Given the description of an element on the screen output the (x, y) to click on. 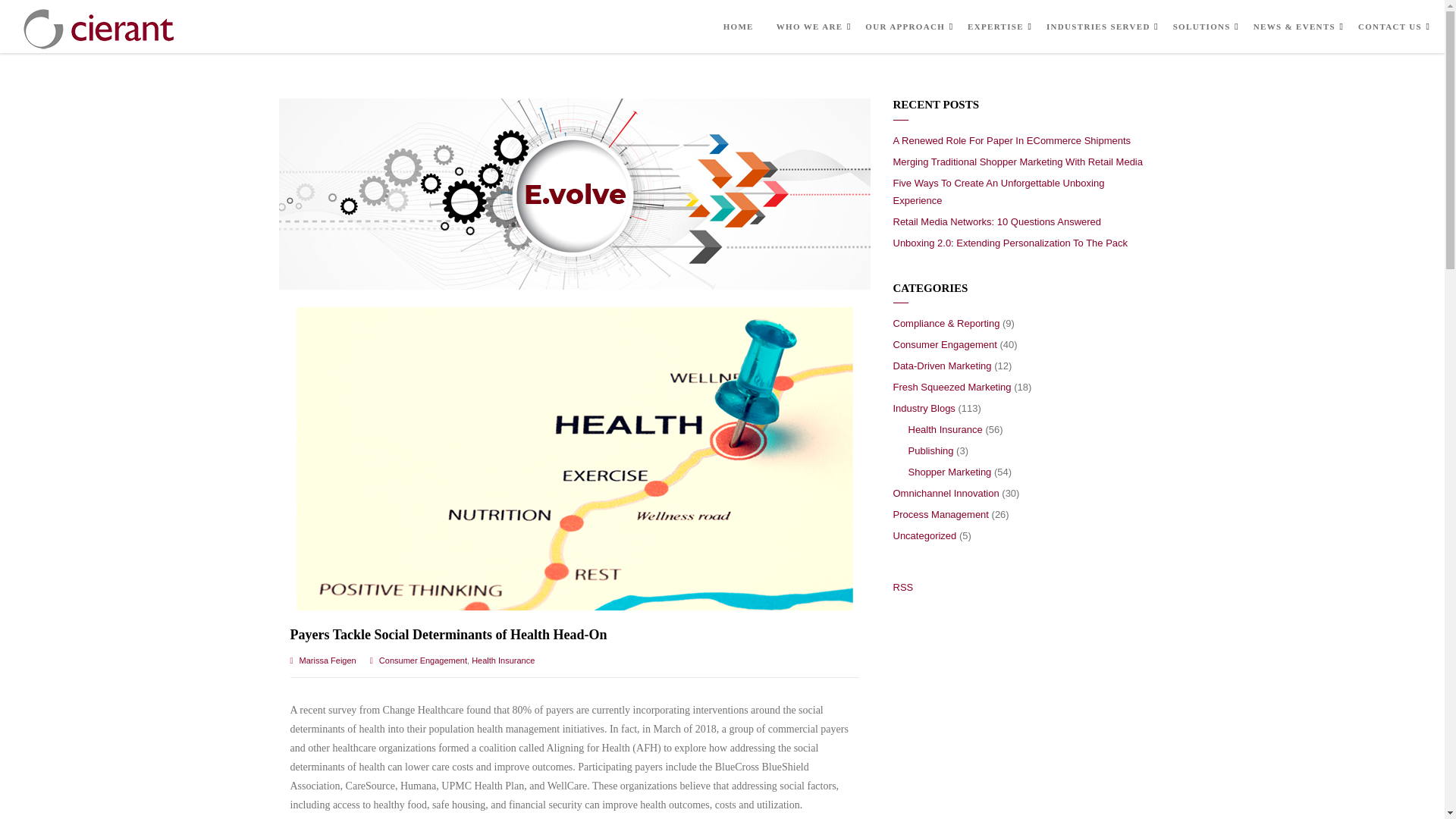
INDUSTRIES SERVED (1098, 26)
Health Insurance (502, 660)
Posts by Marissa Feigen (327, 660)
SOLUTIONS (1201, 26)
EXPERTISE (995, 26)
Payers Tackle Social Determinants of Health Head-On (448, 634)
CONTACT US (1390, 26)
OUR APPROACH (904, 26)
Consumer Engagement (422, 660)
Marissa Feigen (327, 660)
WHO WE ARE (809, 26)
